Given the description of an element on the screen output the (x, y) to click on. 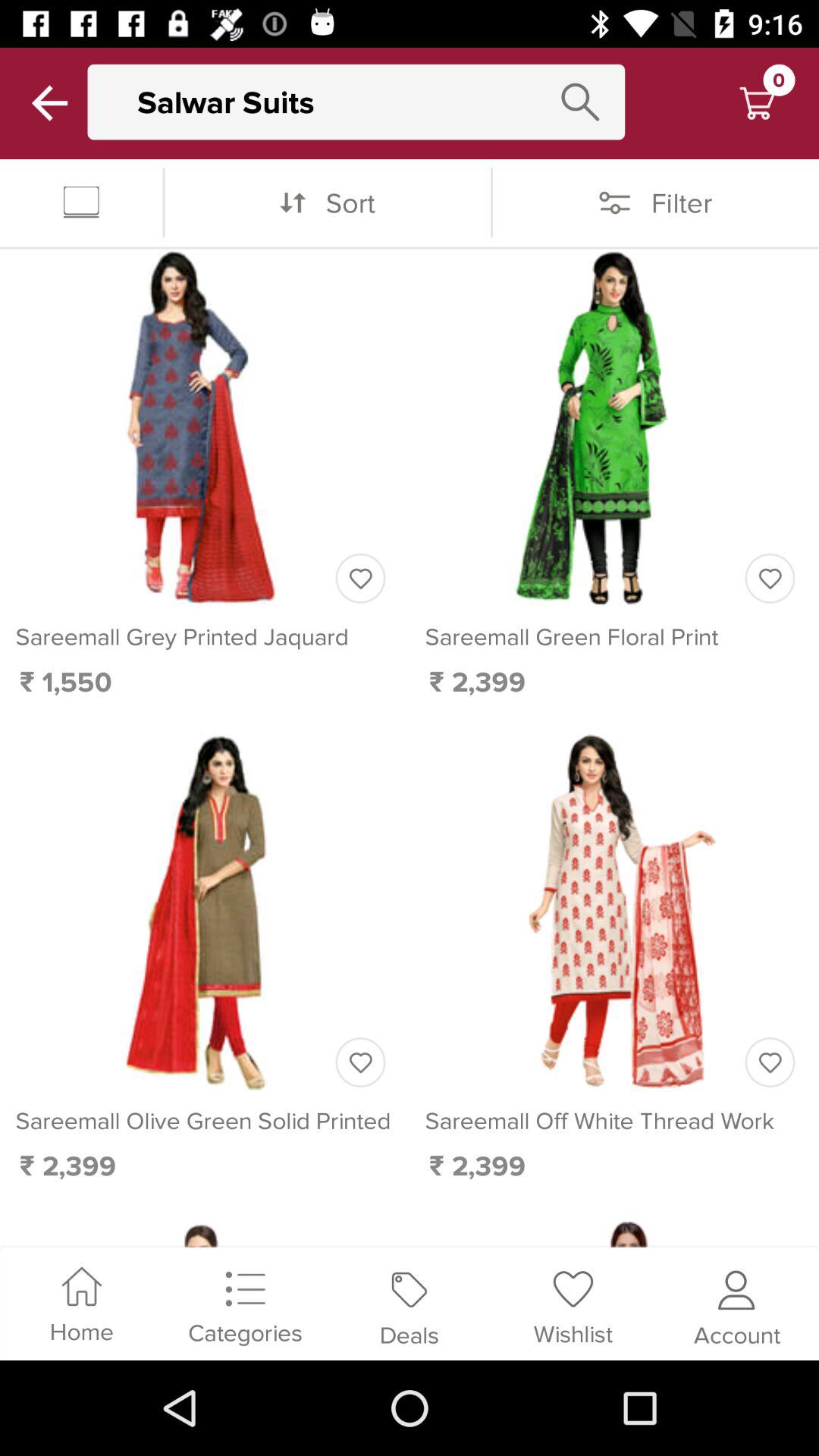
like the product (360, 1062)
